Given the description of an element on the screen output the (x, y) to click on. 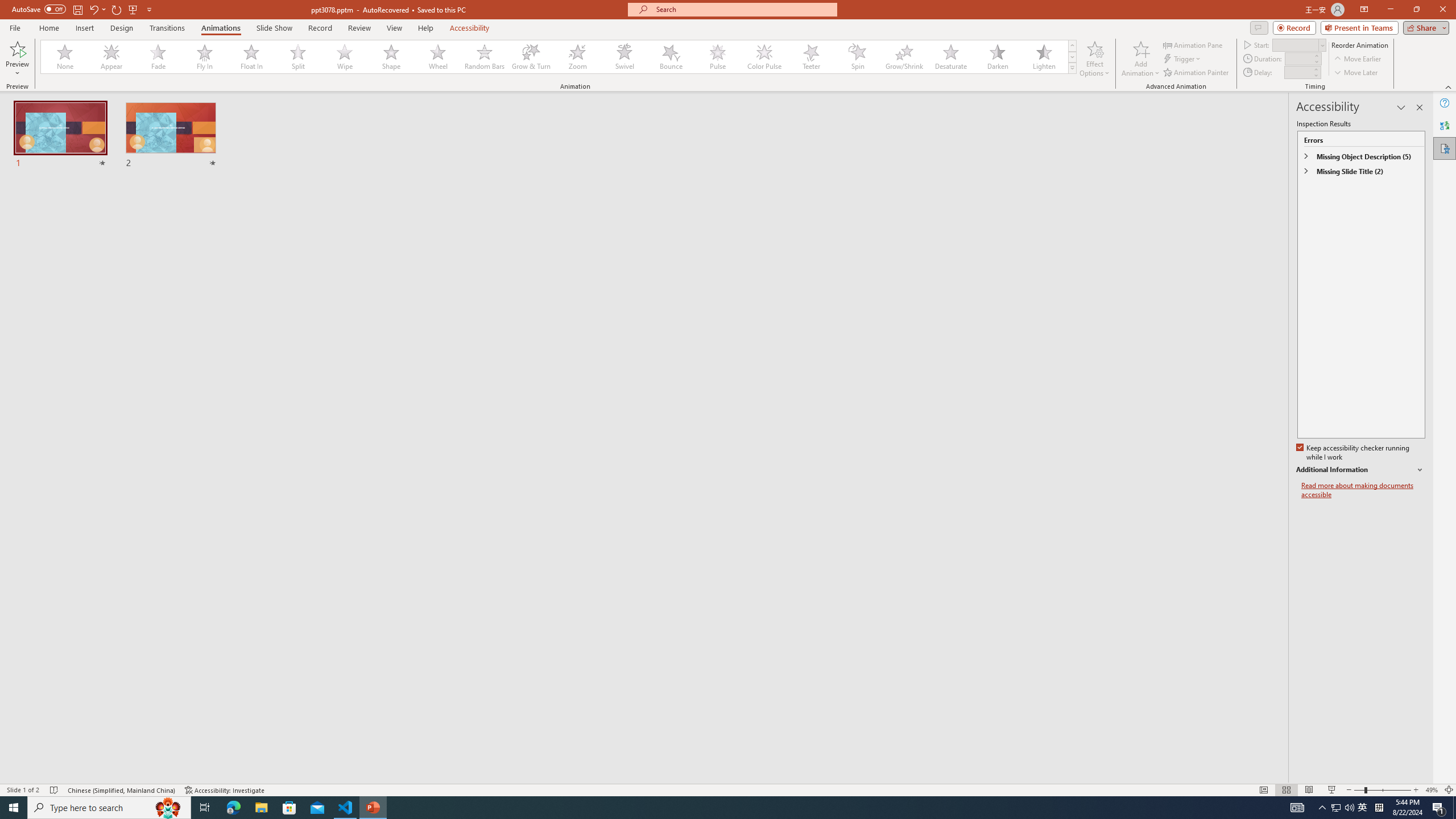
Redo (117, 9)
From Beginning (133, 9)
Additional Information (1360, 469)
Zoom Out (1359, 790)
Animation Styles (1071, 67)
AutomationID: AnimationGallery (558, 56)
Grow/Shrink (903, 56)
Minimize (1390, 9)
Darken (997, 56)
Accessibility Checker Accessibility: Investigate (224, 790)
System (6, 6)
Teeter (810, 56)
Start (1299, 44)
Save (77, 9)
Design (122, 28)
